Given the description of an element on the screen output the (x, y) to click on. 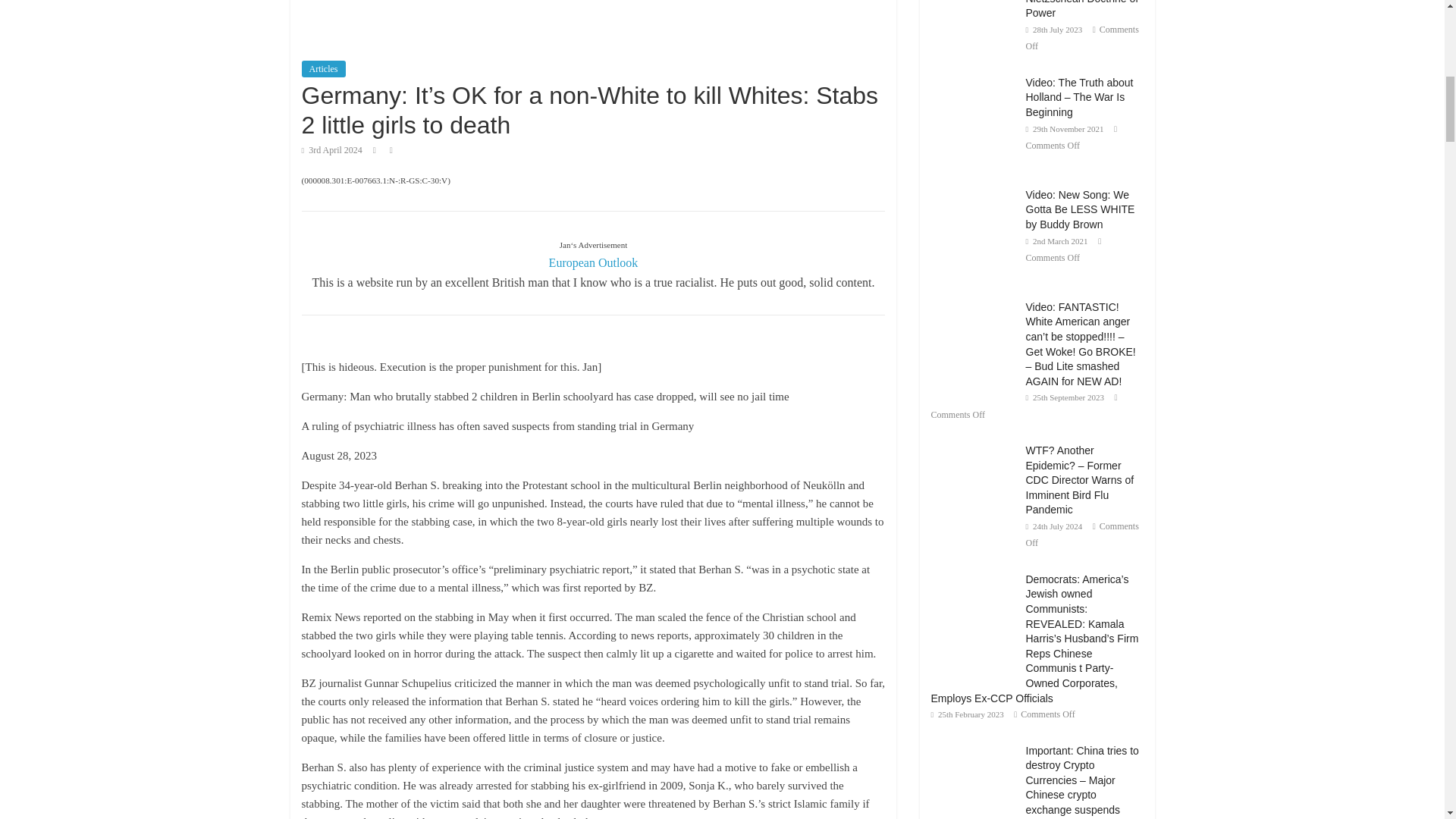
European Outlook (593, 262)
1:09 am (331, 149)
3rd April 2024 (331, 149)
Articles (323, 68)
